Given the description of an element on the screen output the (x, y) to click on. 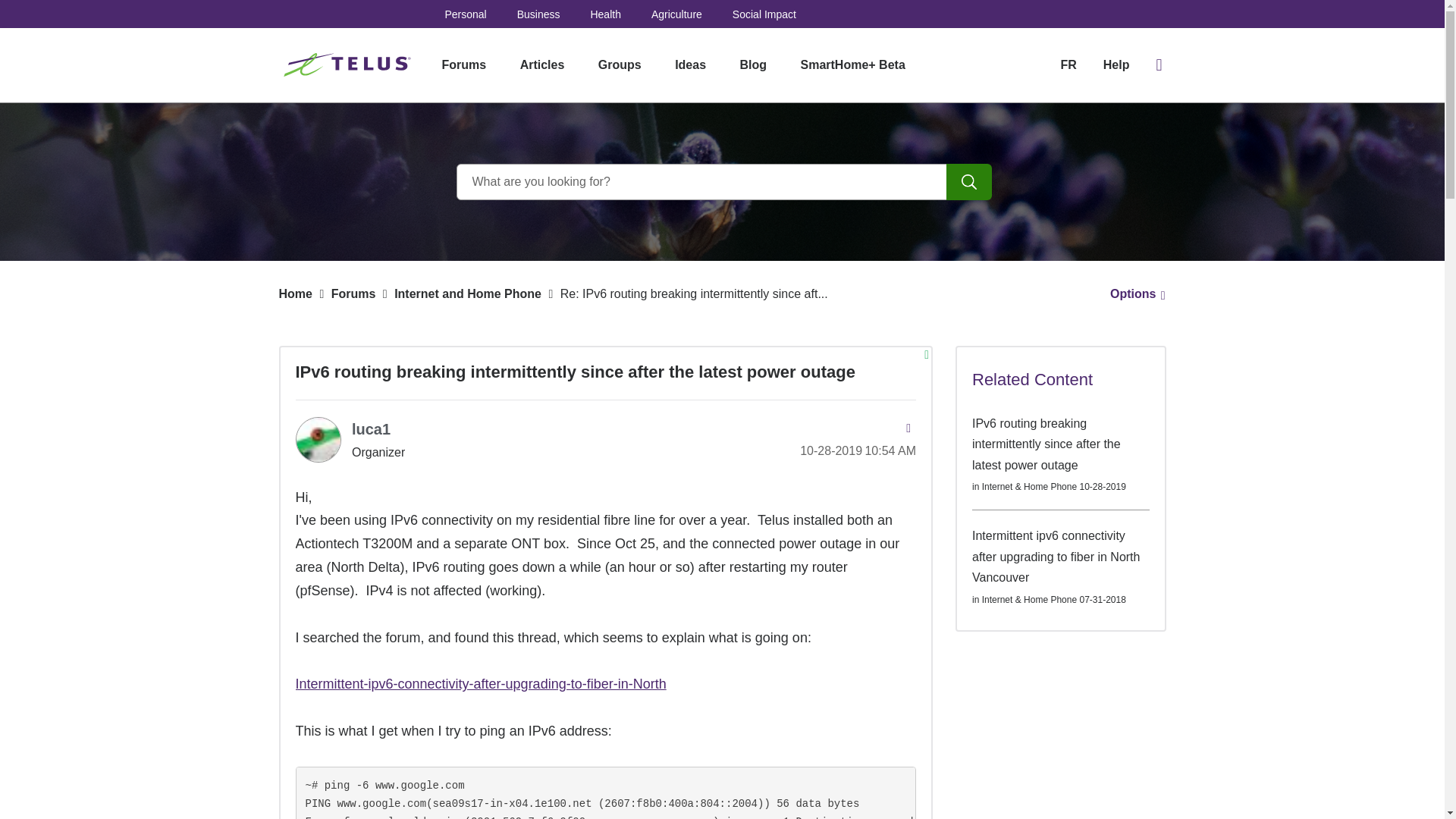
Forums (353, 293)
Agriculture (675, 14)
Forums (463, 64)
Options (1133, 294)
TELUS Neighbourhood (348, 64)
Business (538, 14)
Social Impact (764, 14)
Show option menu (1133, 294)
Search (722, 181)
Articles (542, 64)
FR (1067, 64)
luca1 (371, 428)
Health (604, 14)
Search (968, 181)
Internet and Home Phone (467, 293)
